Given the description of an element on the screen output the (x, y) to click on. 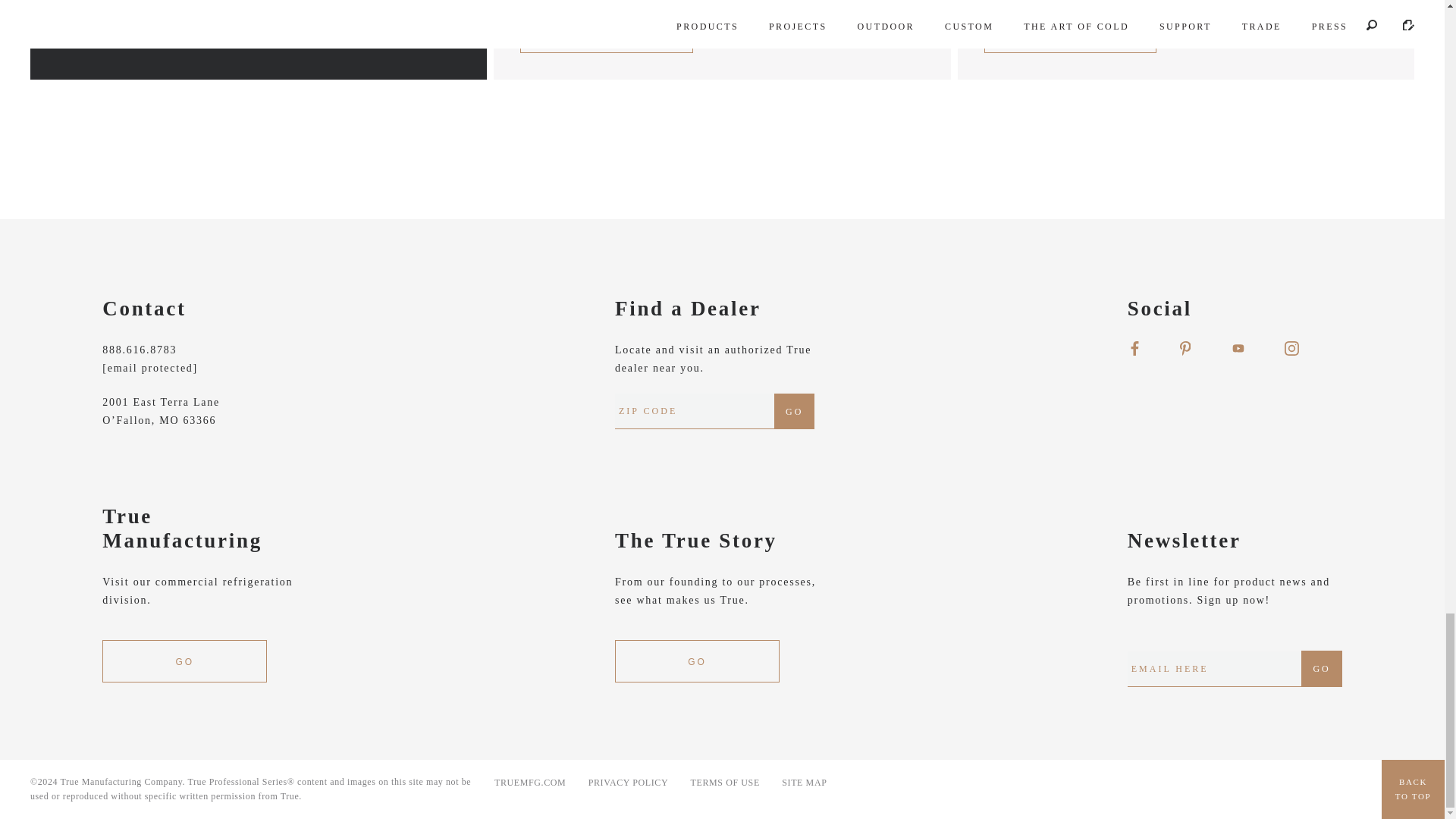
pinterest-icon (1185, 348)
instagram-icon (1291, 348)
Go (793, 411)
Go (1320, 668)
